Given the description of an element on the screen output the (x, y) to click on. 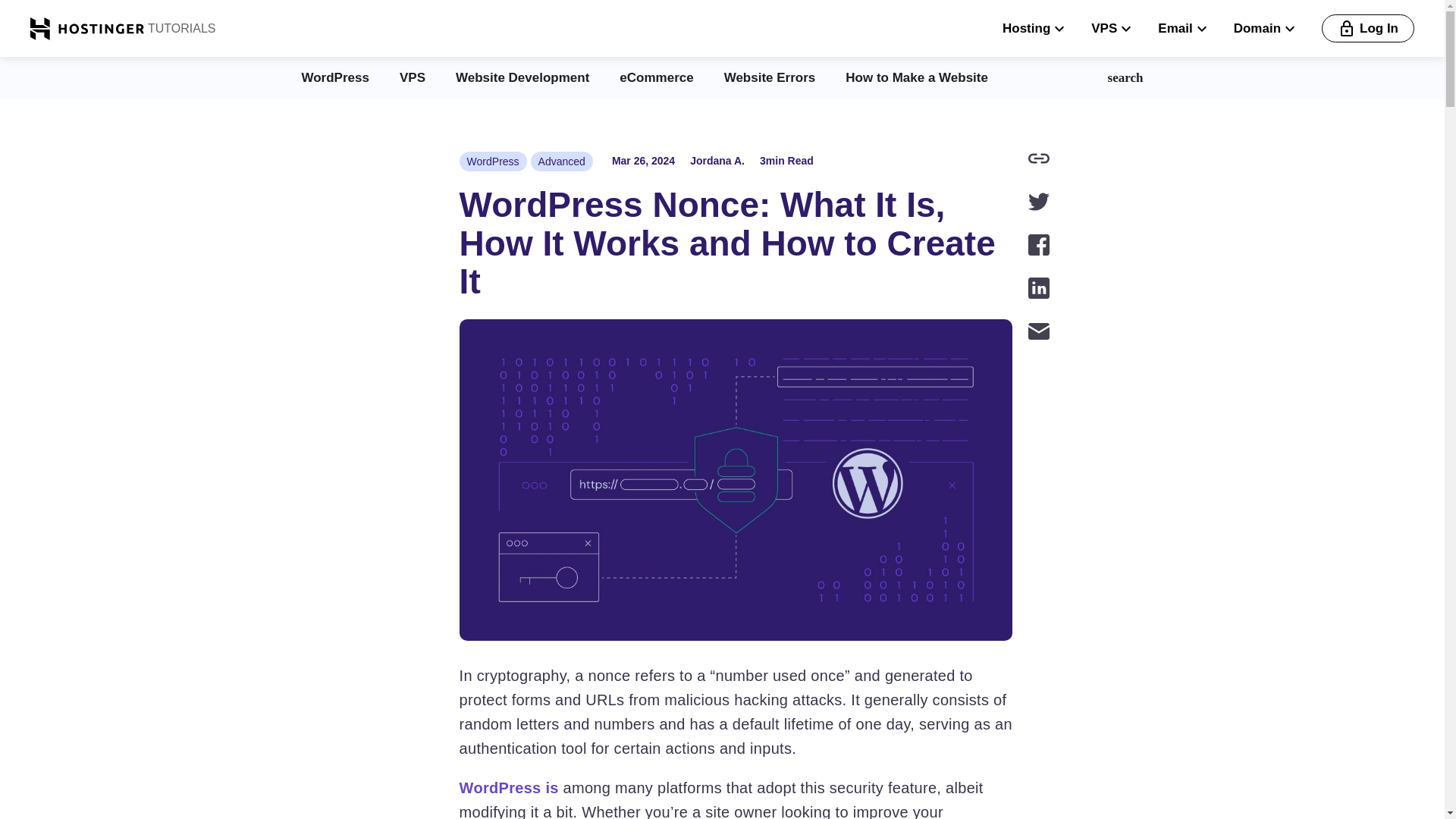
Website Errors (769, 77)
VPS (411, 77)
WordPress is (509, 787)
How to Make a Website (916, 77)
WordPress (335, 77)
WordPress (493, 161)
Advanced (561, 161)
eCommerce (656, 77)
TUTORIALS (179, 28)
Website Development (522, 77)
Log In (1367, 28)
